Given the description of an element on the screen output the (x, y) to click on. 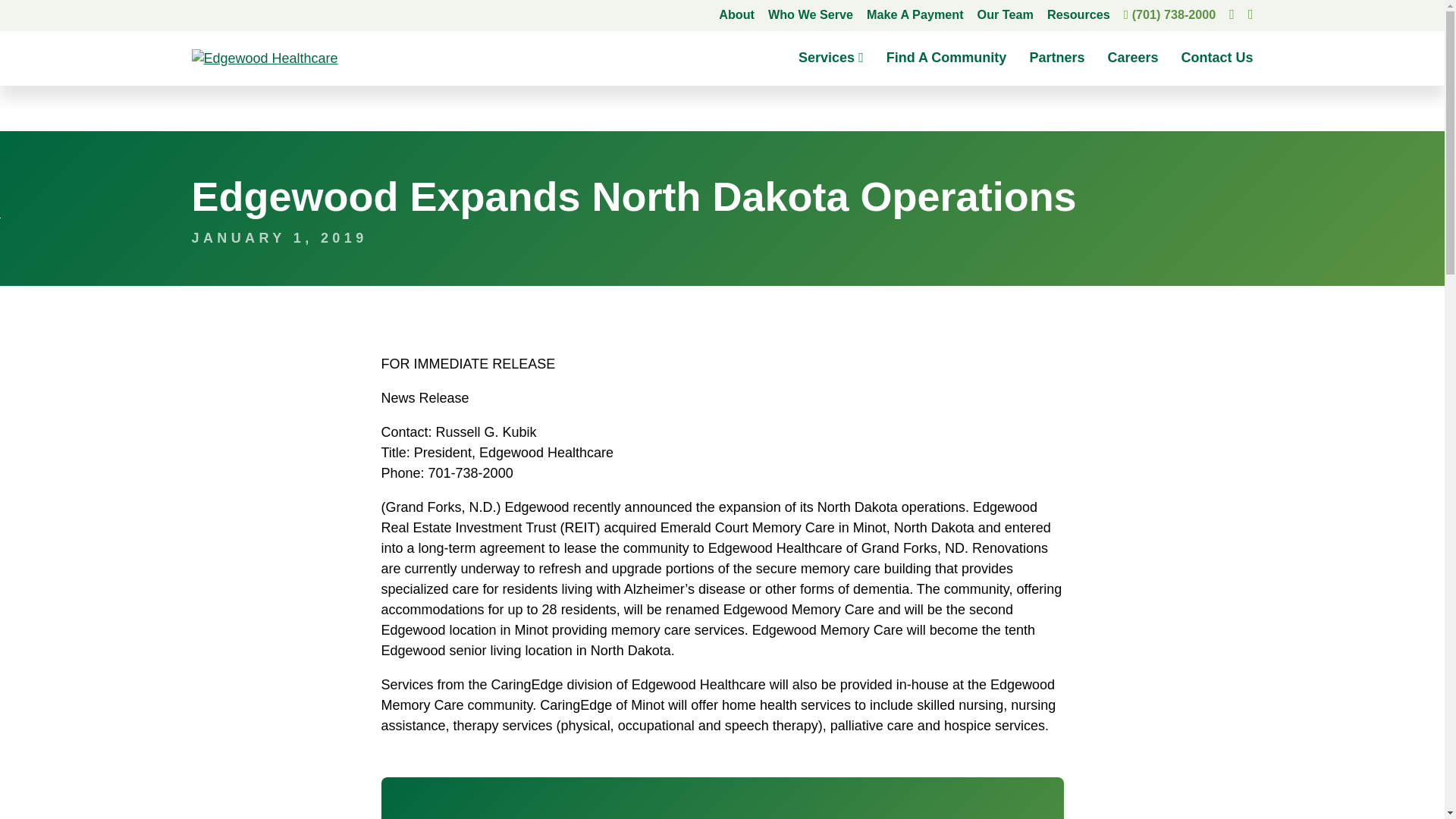
Find A Community (946, 58)
About (736, 16)
Resources (1077, 16)
Our Team (1004, 16)
Contact Us (1216, 58)
Careers (1131, 58)
Who We Serve (810, 16)
Services (830, 58)
Make A Payment (914, 16)
Partners (1056, 58)
